Given the description of an element on the screen output the (x, y) to click on. 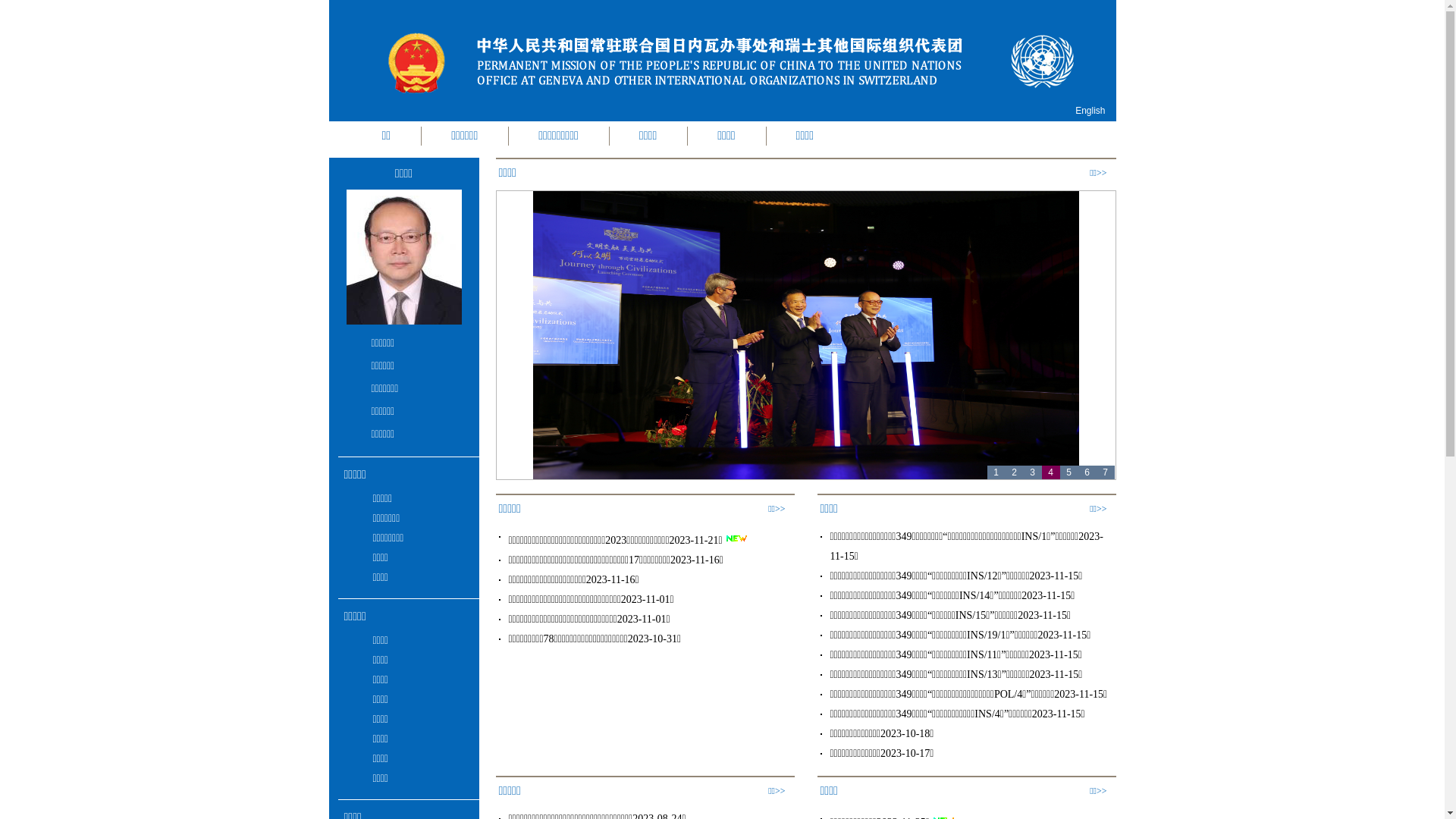
English Element type: text (1089, 110)
